Given the description of an element on the screen output the (x, y) to click on. 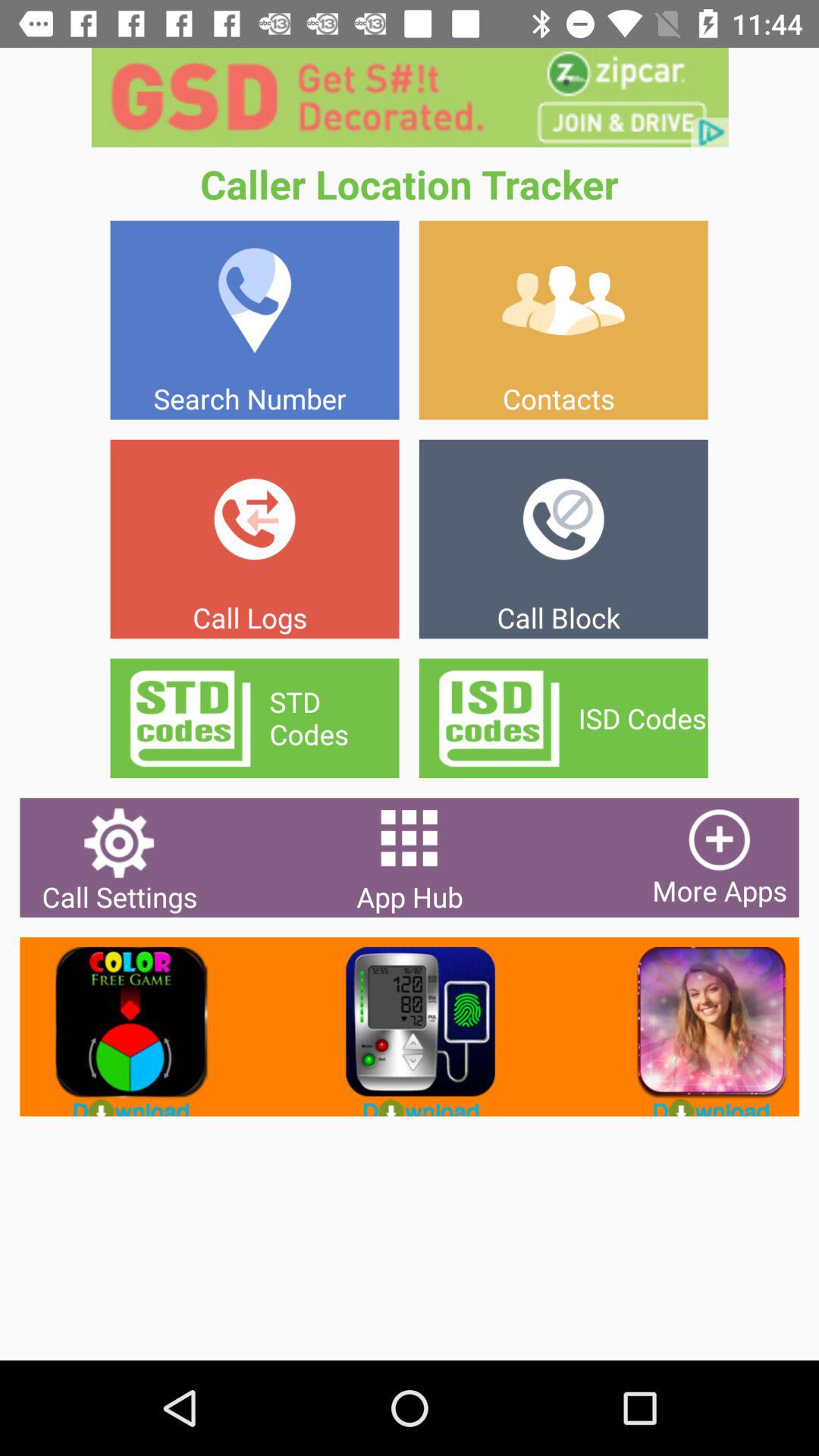
go to advertisement (409, 97)
